Given the description of an element on the screen output the (x, y) to click on. 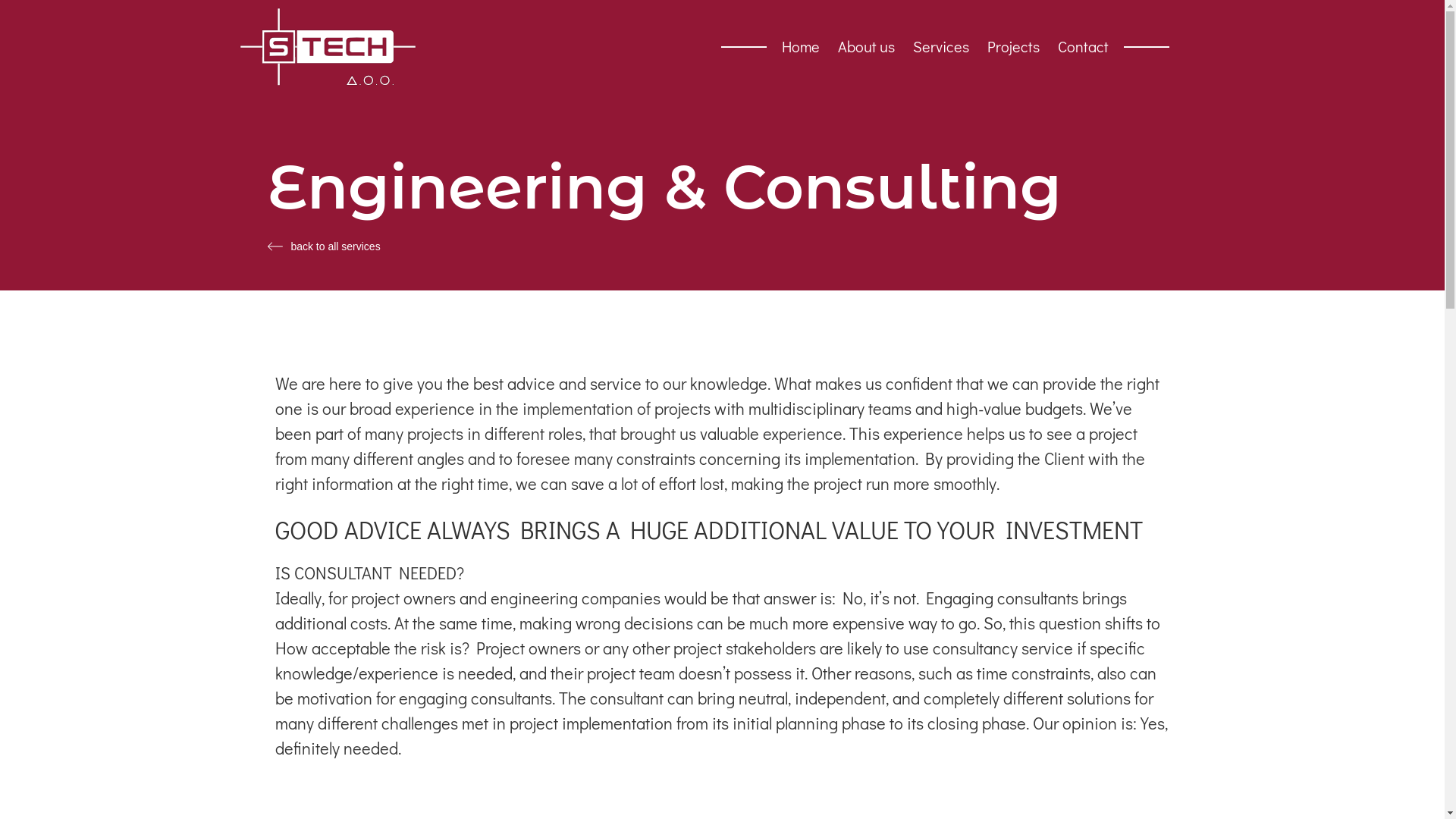
Structural design Element type: text (1039, 92)
About us Element type: text (866, 46)
Home Element type: text (800, 46)
back to all services Element type: text (721, 246)
Contact Element type: text (1083, 46)
Projects Element type: text (1013, 46)
Services Element type: text (940, 46)
